Given the description of an element on the screen output the (x, y) to click on. 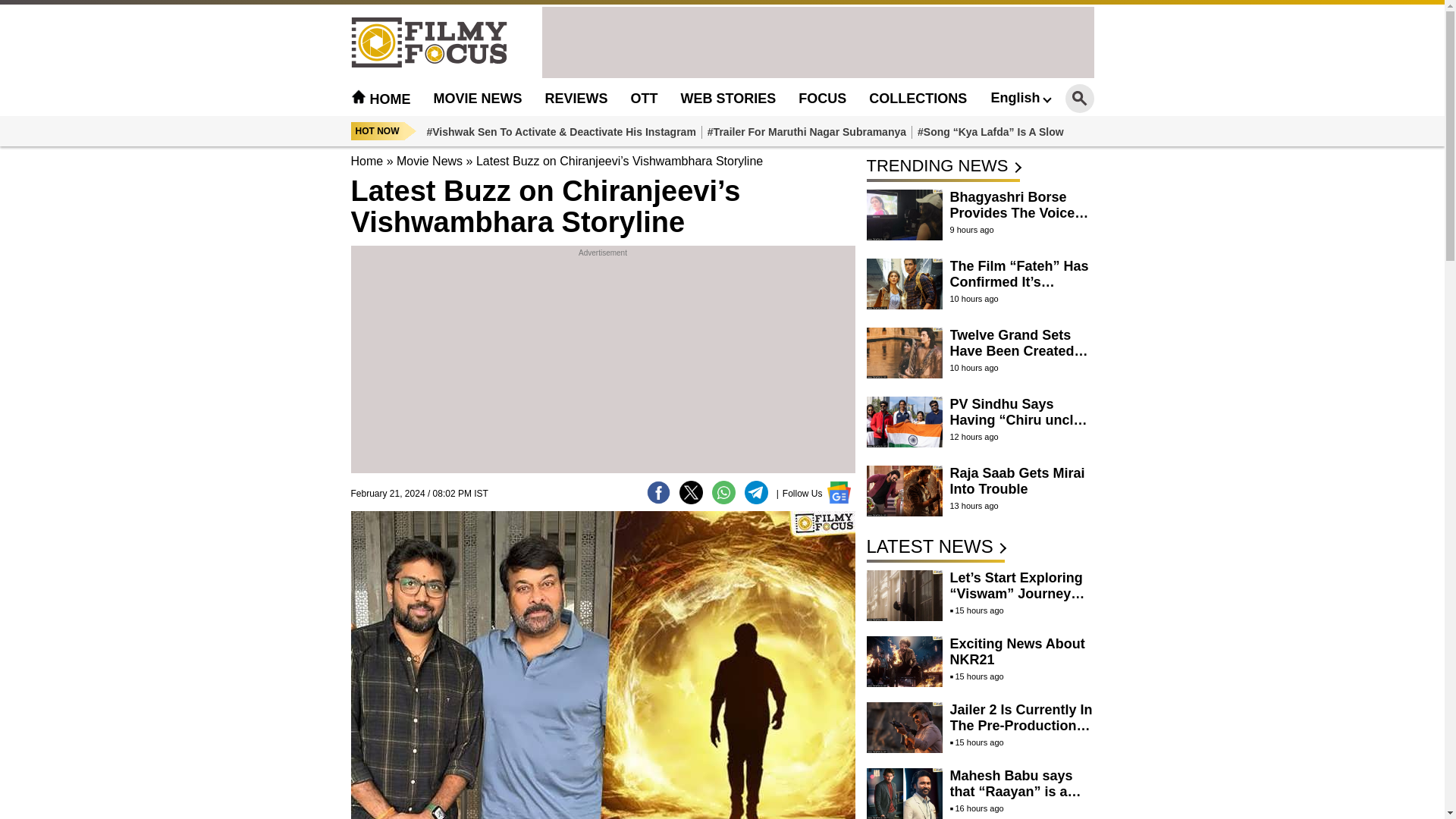
Focus (821, 98)
Collections (917, 98)
HOME (380, 99)
Movie News (429, 160)
WEB STORIES (728, 98)
REVIEWS (576, 98)
FOCUS (821, 98)
English (1019, 97)
OTT (644, 98)
Home (366, 160)
OTT (644, 98)
Movie News (477, 98)
Reviews (576, 98)
MOVIE NEWS (477, 98)
FaceBook (657, 492)
